Given the description of an element on the screen output the (x, y) to click on. 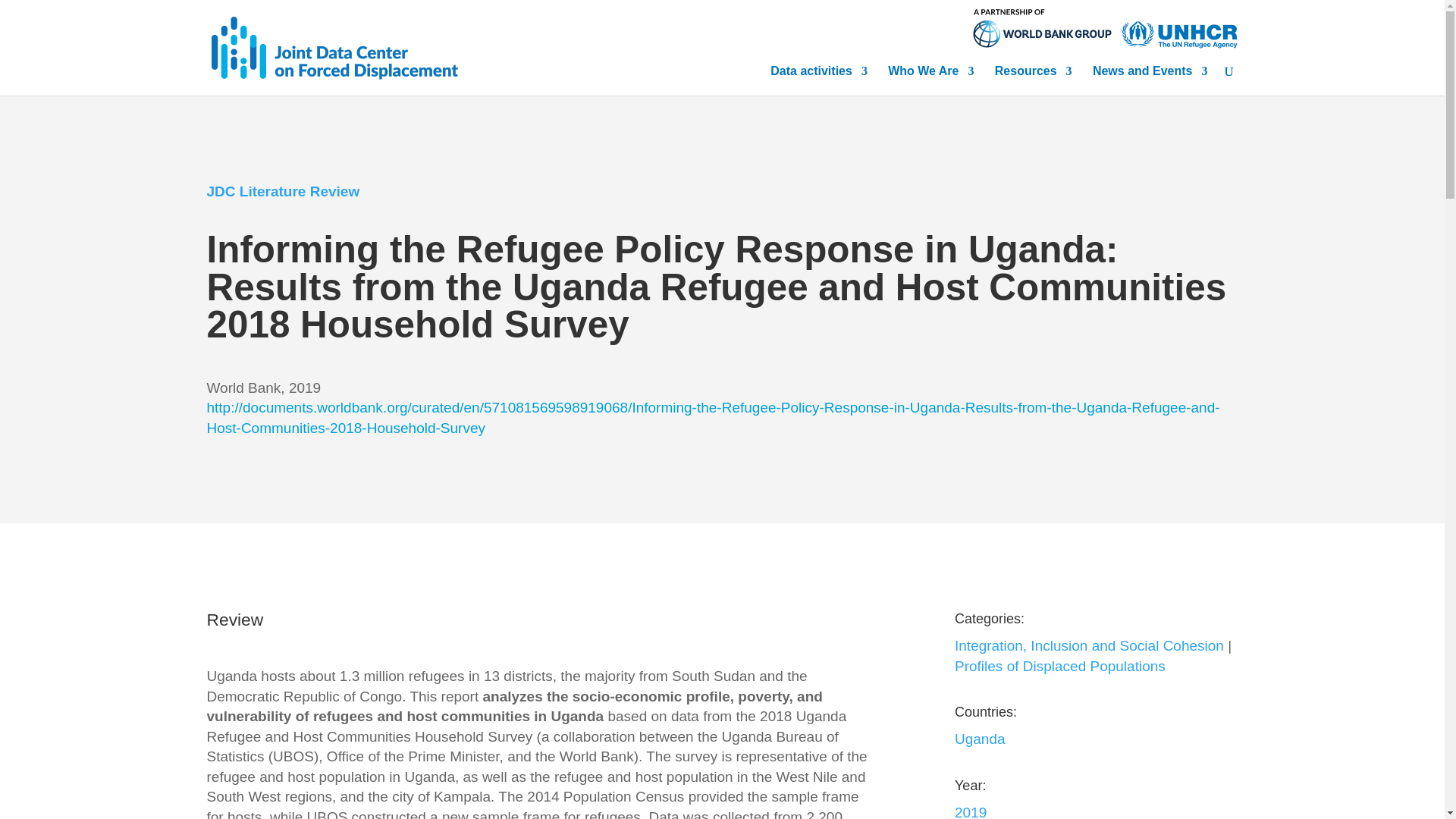
Data activities (818, 76)
Resources (1032, 76)
Who We Are (931, 76)
News and Events (1150, 76)
